Given the description of an element on the screen output the (x, y) to click on. 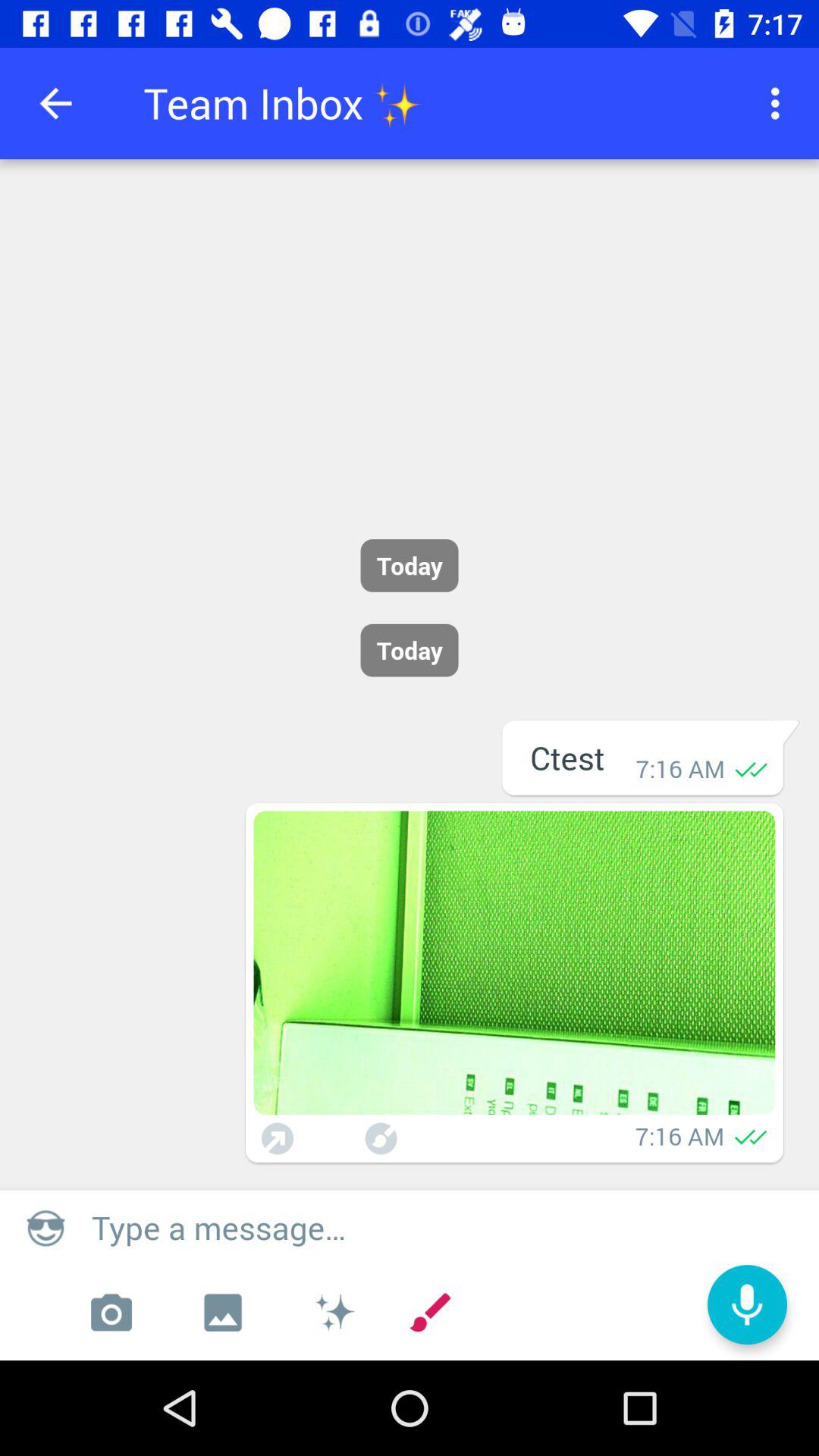
select the tick on 2nd text (751, 1136)
select the text which says ctest (567, 757)
go to the type a message box (447, 1228)
click on the edit option in the picture (380, 1138)
click on the microphone option (747, 1304)
click on the gallery option below the typing area (223, 1312)
select the icon which is left to the microphone icon (429, 1312)
select the icon which is right to the image icon (334, 1312)
